Given the description of an element on the screen output the (x, y) to click on. 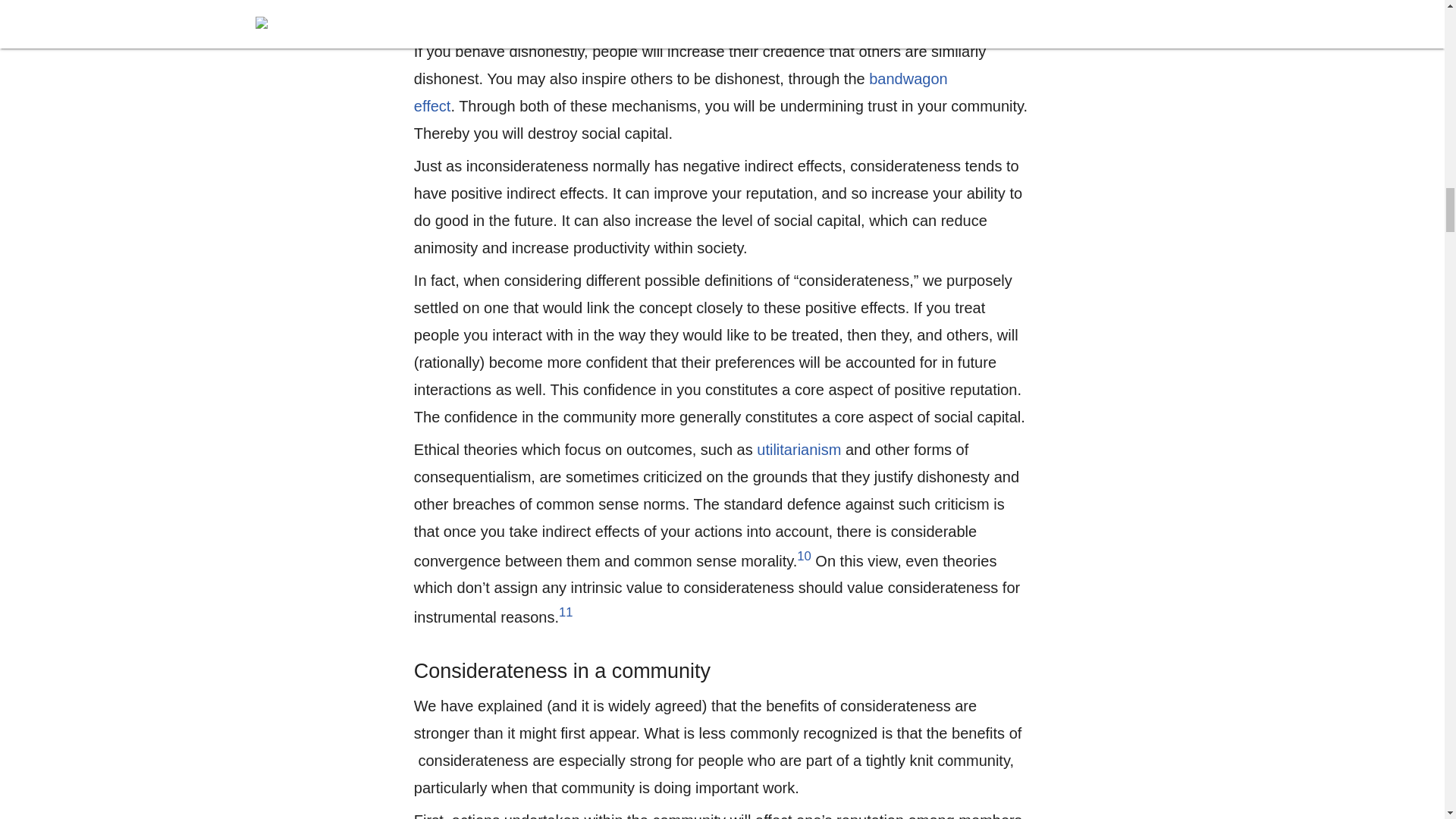
bandwagon effect (680, 92)
11 (566, 612)
utilitarianism (799, 449)
10 (803, 555)
